Given the description of an element on the screen output the (x, y) to click on. 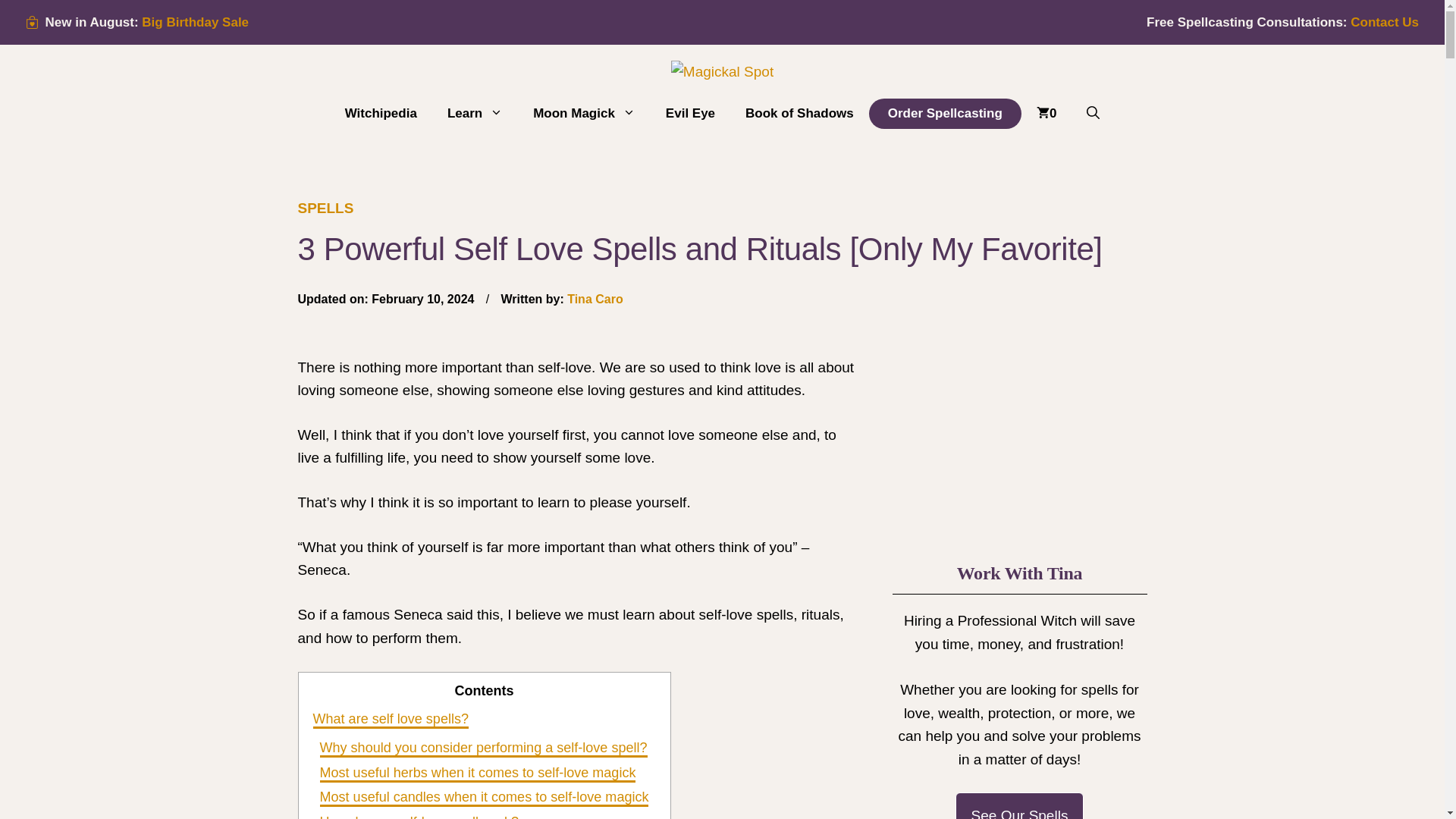
Big Birthday Sale (194, 22)
View your shopping cart (1046, 113)
Learn (475, 113)
Witchipedia (381, 113)
Contact Us (1384, 22)
